Given the description of an element on the screen output the (x, y) to click on. 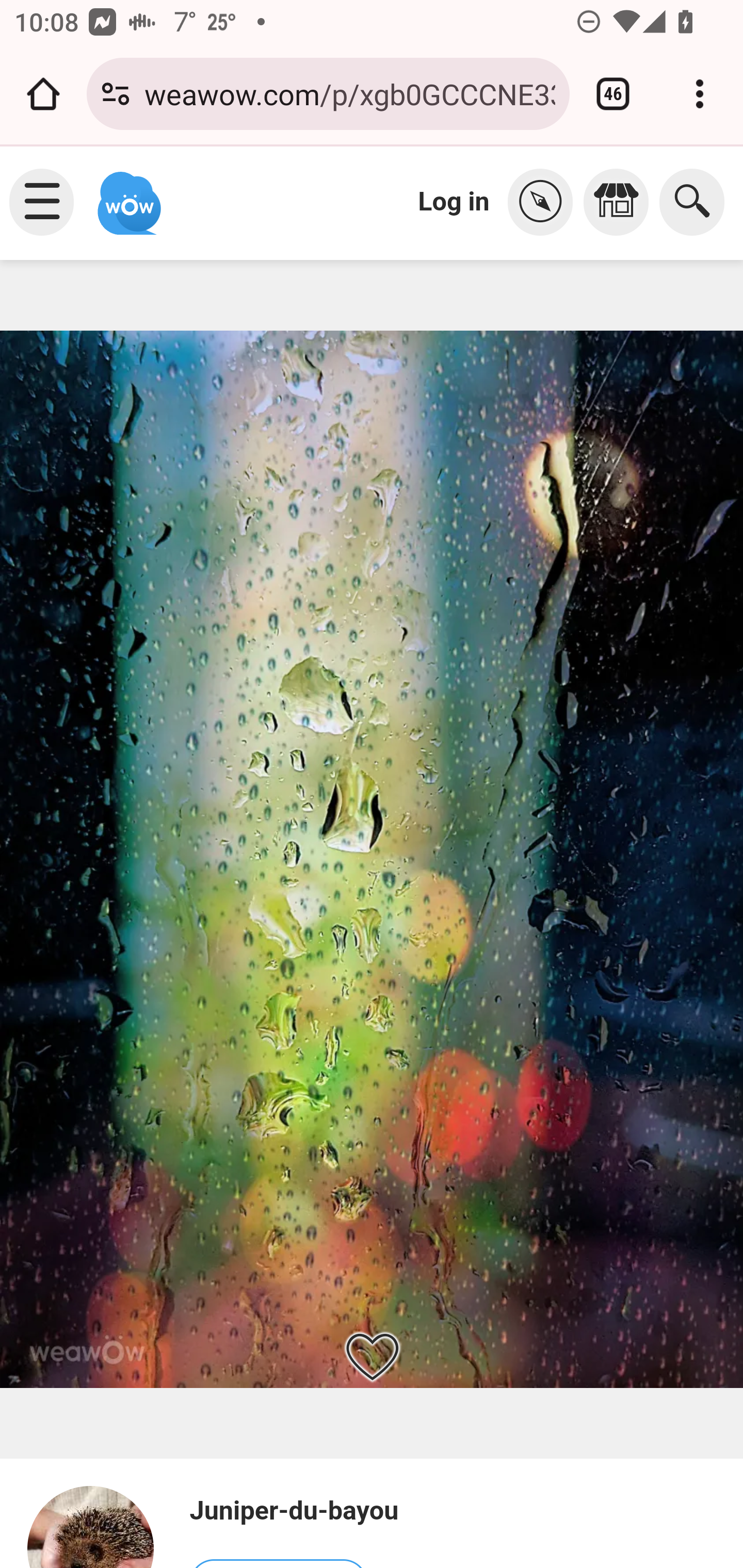
Open the home page (43, 93)
Connection is secure (115, 93)
Switch or close tabs (612, 93)
Customize and control Google Chrome (699, 93)
weawow.com/p/xgb0GCCCNE330367 (349, 92)
Weawow (127, 194)
 (545, 201)
 (621, 201)
Log in (453, 201)
Juniper-du-bayou (99, 1525)
Juniper-du-bayou (292, 1510)
